Given the description of an element on the screen output the (x, y) to click on. 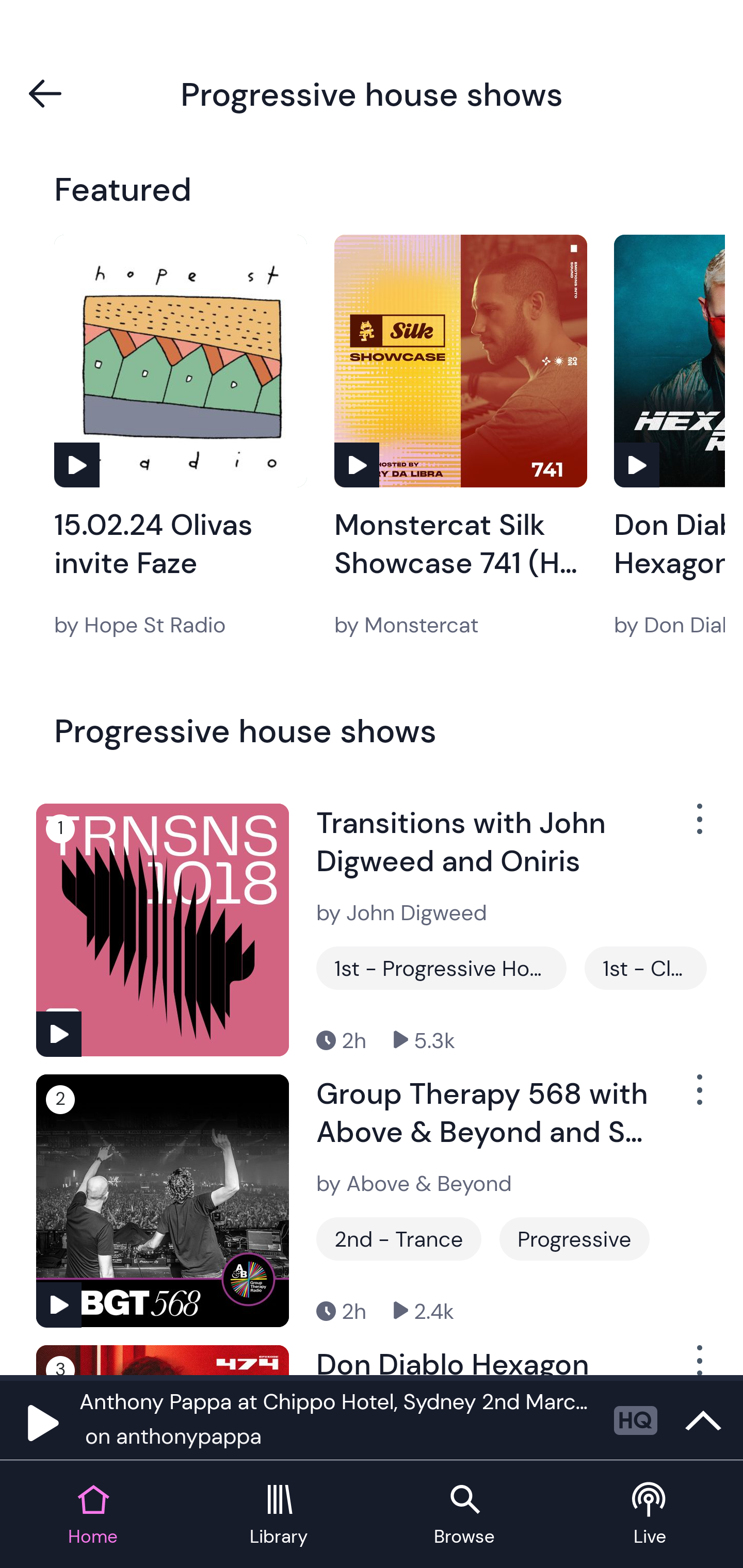
Show Options Menu Button (697, 825)
1st - Progressive House (441, 968)
1st - Club (645, 968)
Show Options Menu Button (697, 1097)
2nd - Trance (398, 1238)
Progressive (574, 1238)
Show Options Menu Button (697, 1360)
Home tab Home (92, 1515)
Library tab Library (278, 1515)
Browse tab Browse (464, 1515)
Live tab Live (650, 1515)
